Given the description of an element on the screen output the (x, y) to click on. 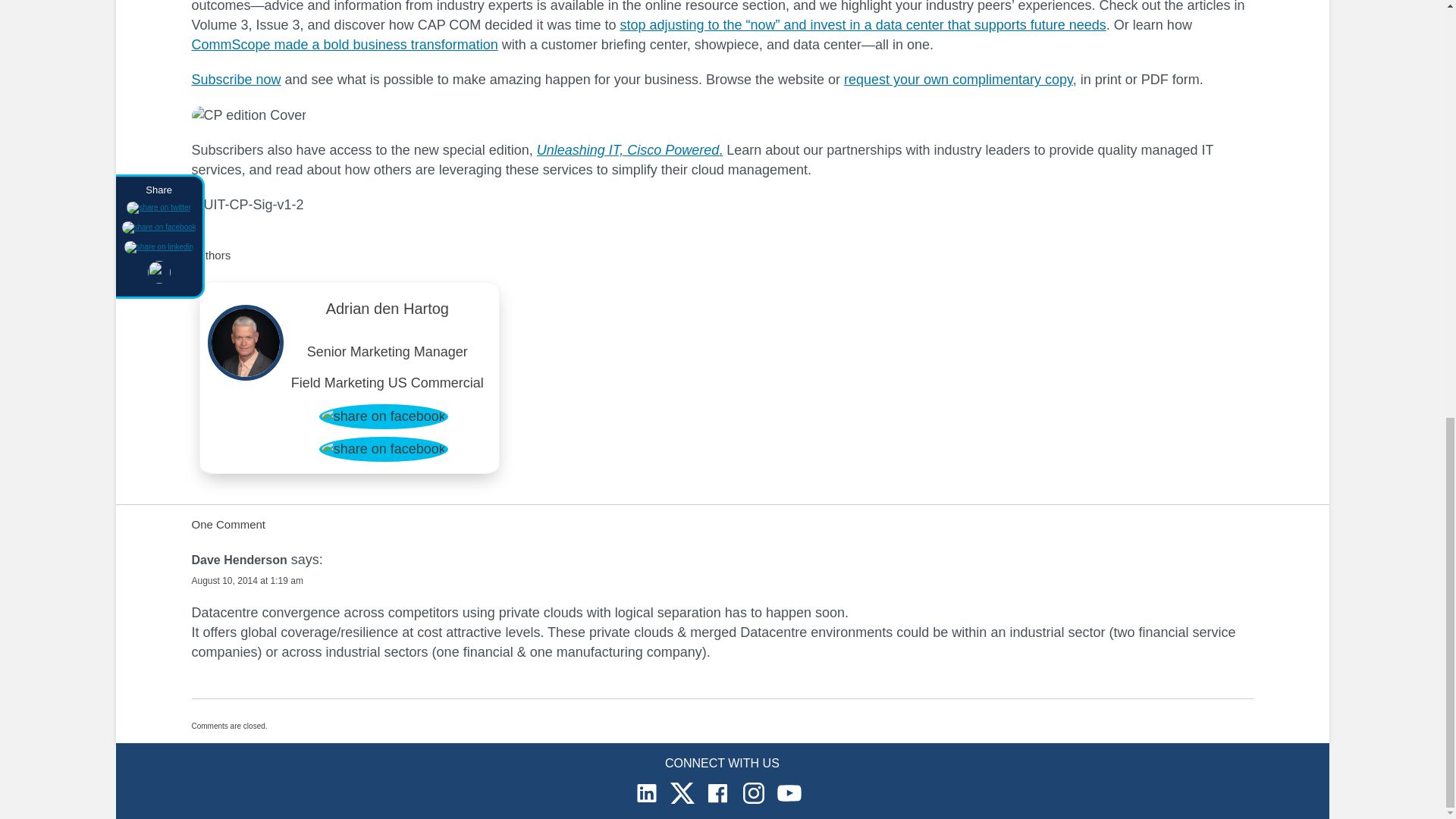
August 10, 2014 at 1:19 am (246, 580)
Adrian den Hartog (387, 312)
Unleashing IT, Cisco Powered. (629, 150)
CommScope made a bold business transformation (343, 44)
Subscribe now (235, 79)
request your own complimentary copy (958, 79)
